Given the description of an element on the screen output the (x, y) to click on. 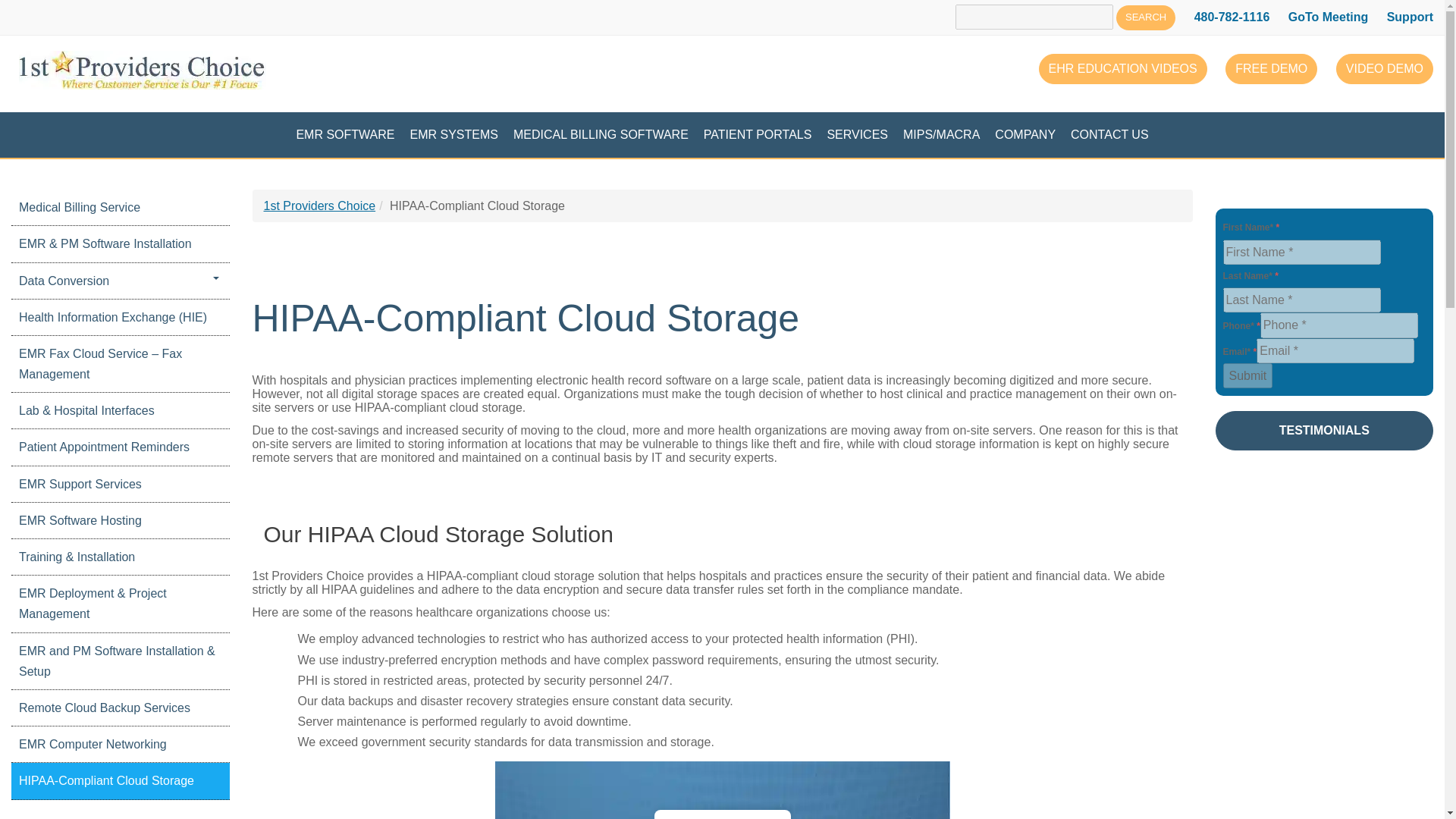
Medical Billing Service (120, 207)
VIDEO DEMO (1384, 69)
EMR Software Hosting (120, 520)
EMR SOFTWARE (344, 135)
Search (1145, 17)
GoTo Meeting (1328, 16)
480-782-1116 (1231, 16)
FREE DEMO (1271, 69)
Data Conversion (120, 280)
Patient Appointment Reminders (120, 447)
